Given the description of an element on the screen output the (x, y) to click on. 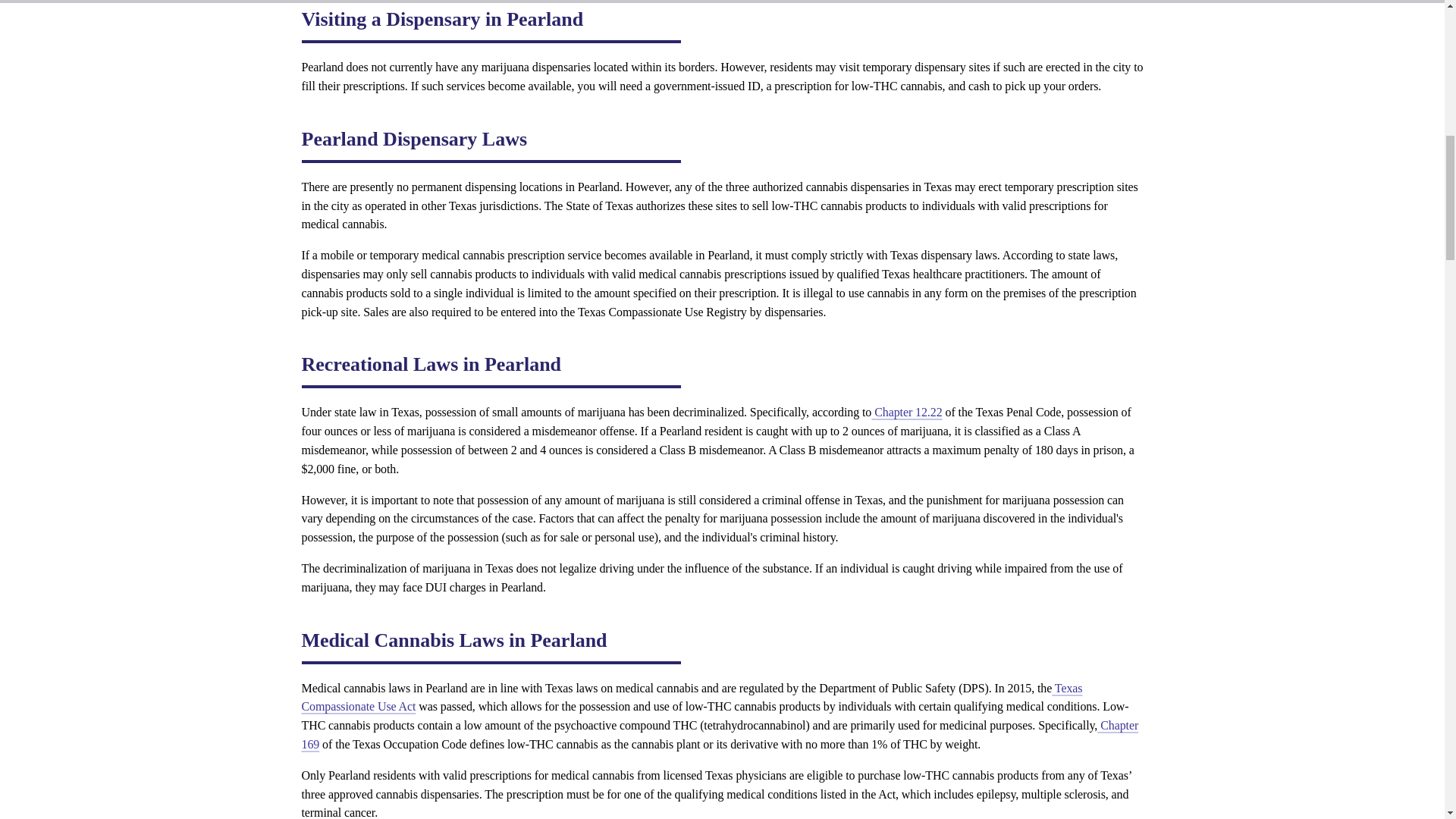
Texas Compassionate Use Act (692, 697)
Chapter 169 (719, 735)
Chapter 12.22 (906, 411)
